Given the description of an element on the screen output the (x, y) to click on. 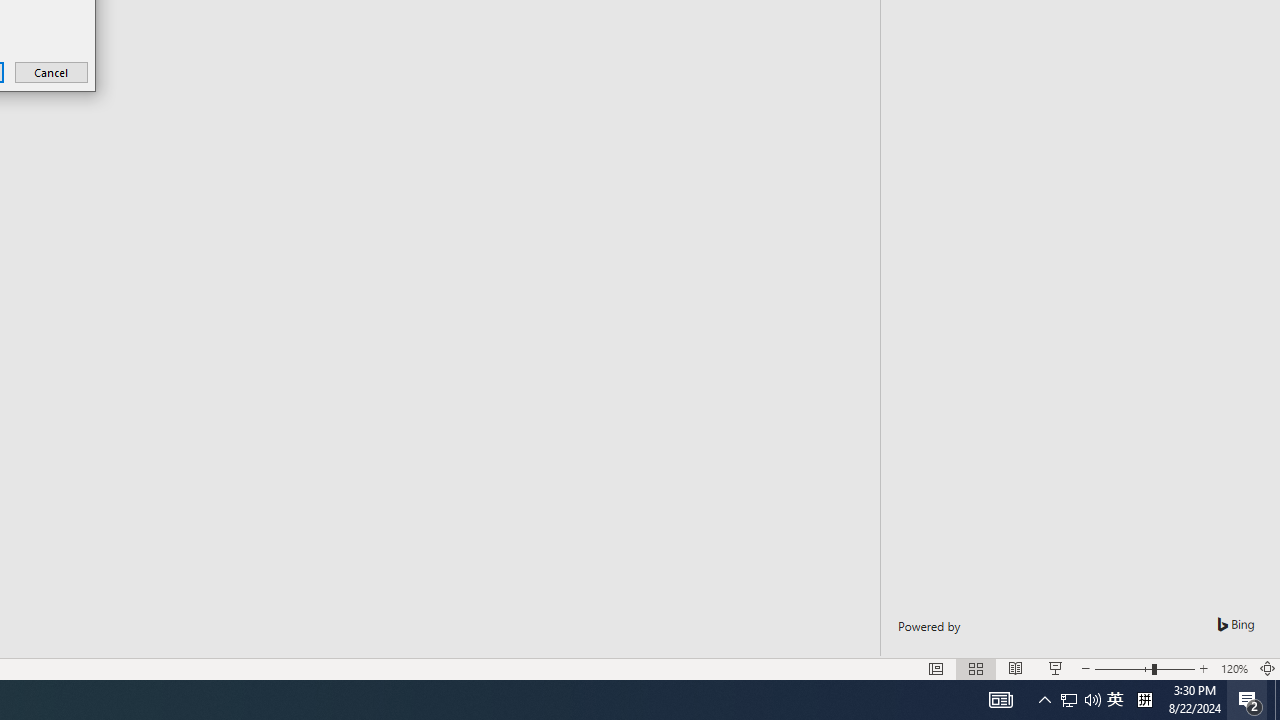
Zoom 120% (1234, 668)
